Given the description of an element on the screen output the (x, y) to click on. 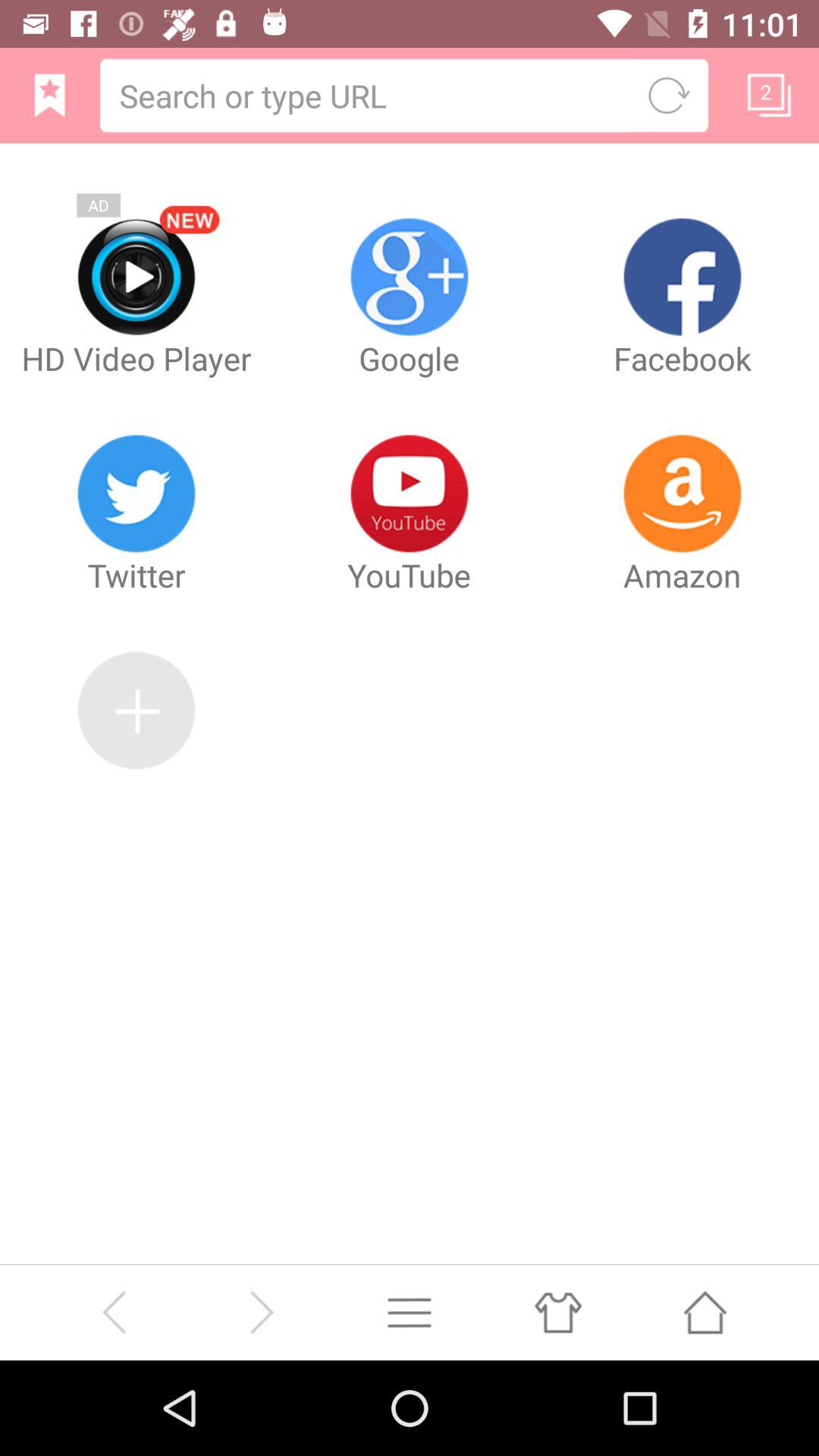
send to (705, 1312)
